Given the description of an element on the screen output the (x, y) to click on. 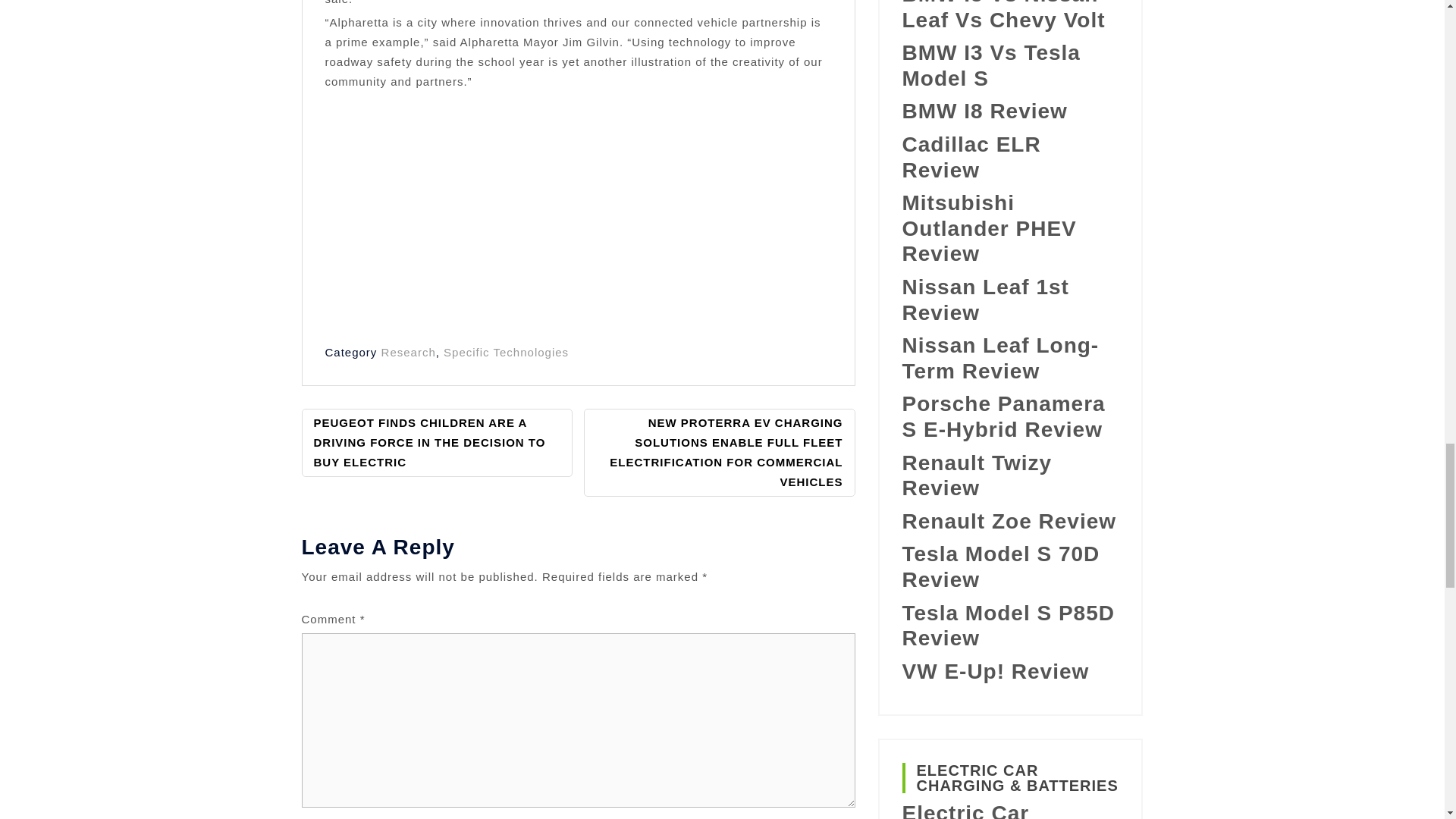
Specific Technologies (506, 351)
Research (408, 351)
